Given the description of an element on the screen output the (x, y) to click on. 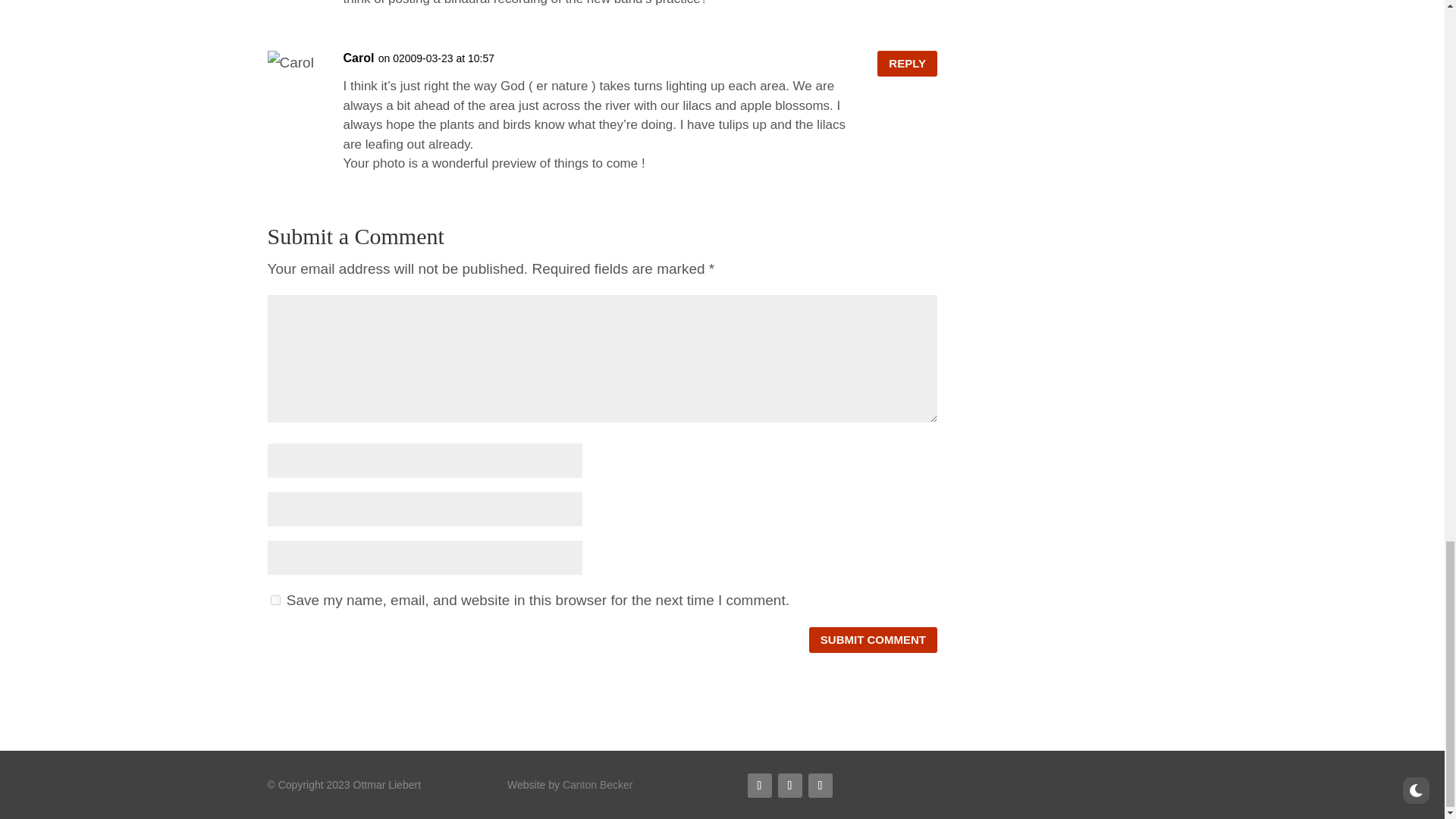
Follow on RSS (759, 785)
REPLY (907, 63)
Follow on Bandcamp (820, 785)
SUBMIT COMMENT (873, 640)
yes (274, 600)
Follow on Odnoklassniki (789, 785)
